Given the description of an element on the screen output the (x, y) to click on. 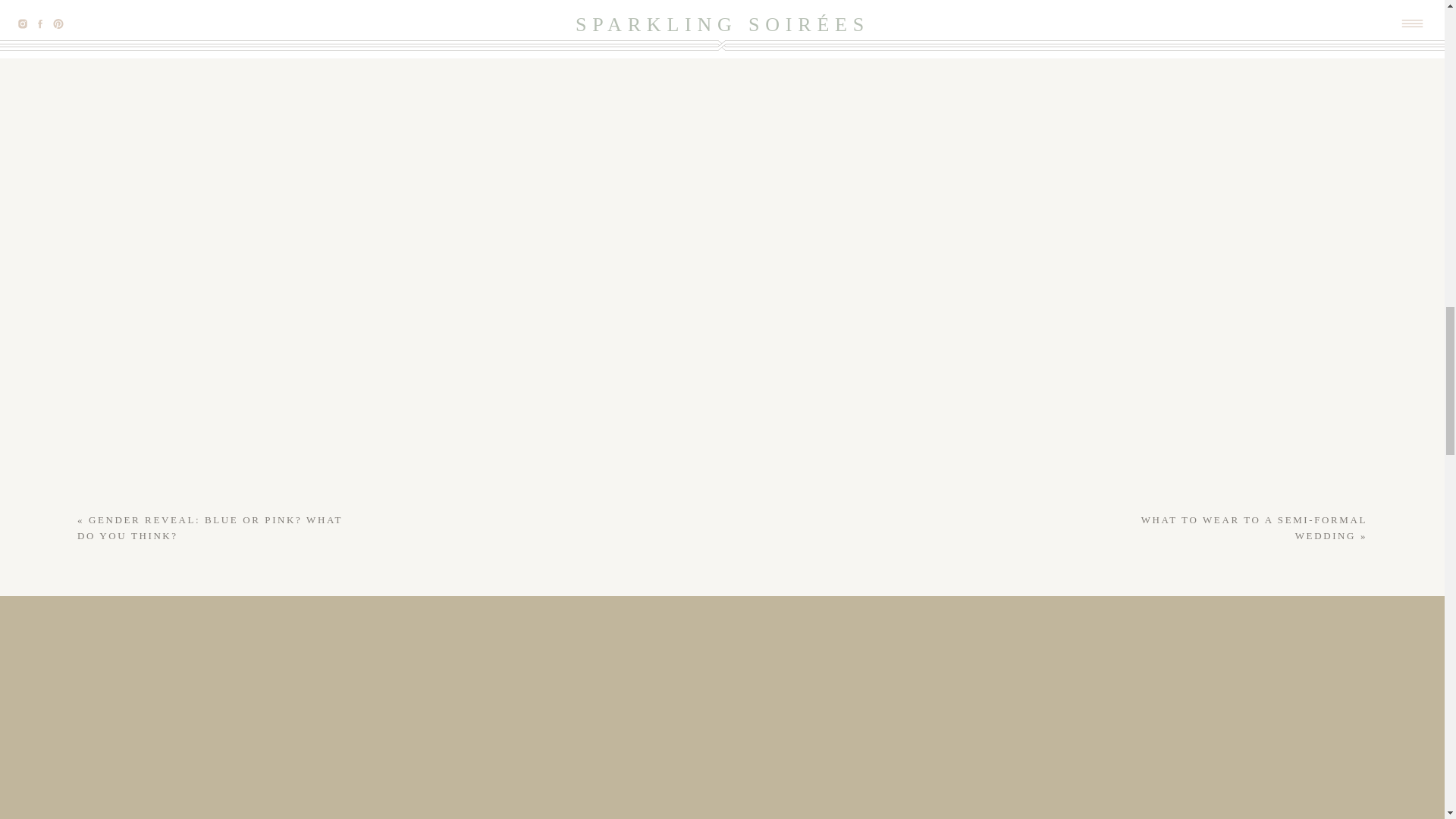
GENDER REVEAL: BLUE OR PINK? WHAT DO YOU THINK? (209, 527)
WHAT TO WEAR TO A SEMI-FORMAL WEDDING (1254, 527)
